Given the description of an element on the screen output the (x, y) to click on. 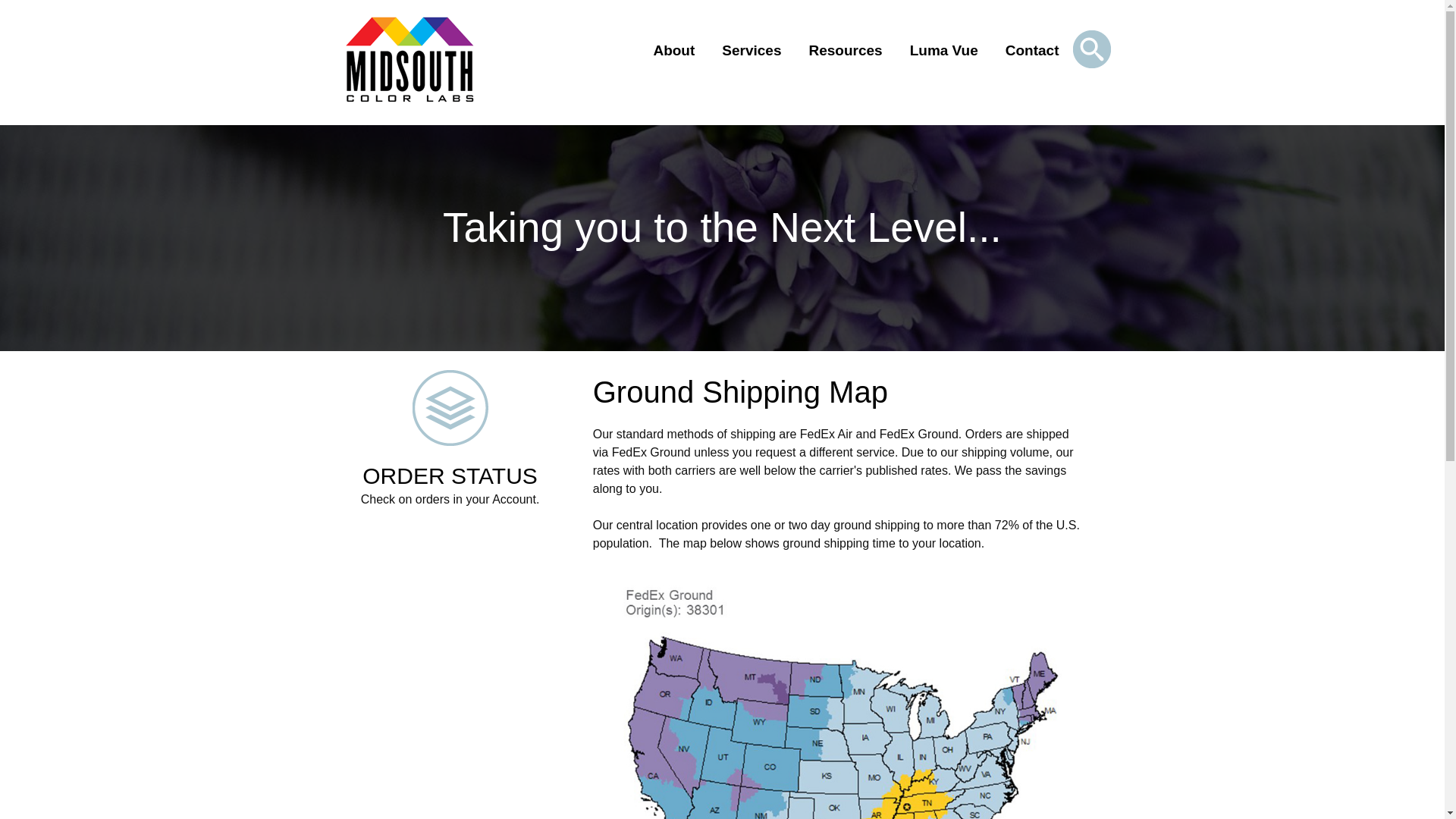
Search by Keyword (449, 443)
Luma Vue (1090, 47)
Services (943, 49)
Resources (750, 49)
Order Status (844, 49)
About (449, 443)
